Given the description of an element on the screen output the (x, y) to click on. 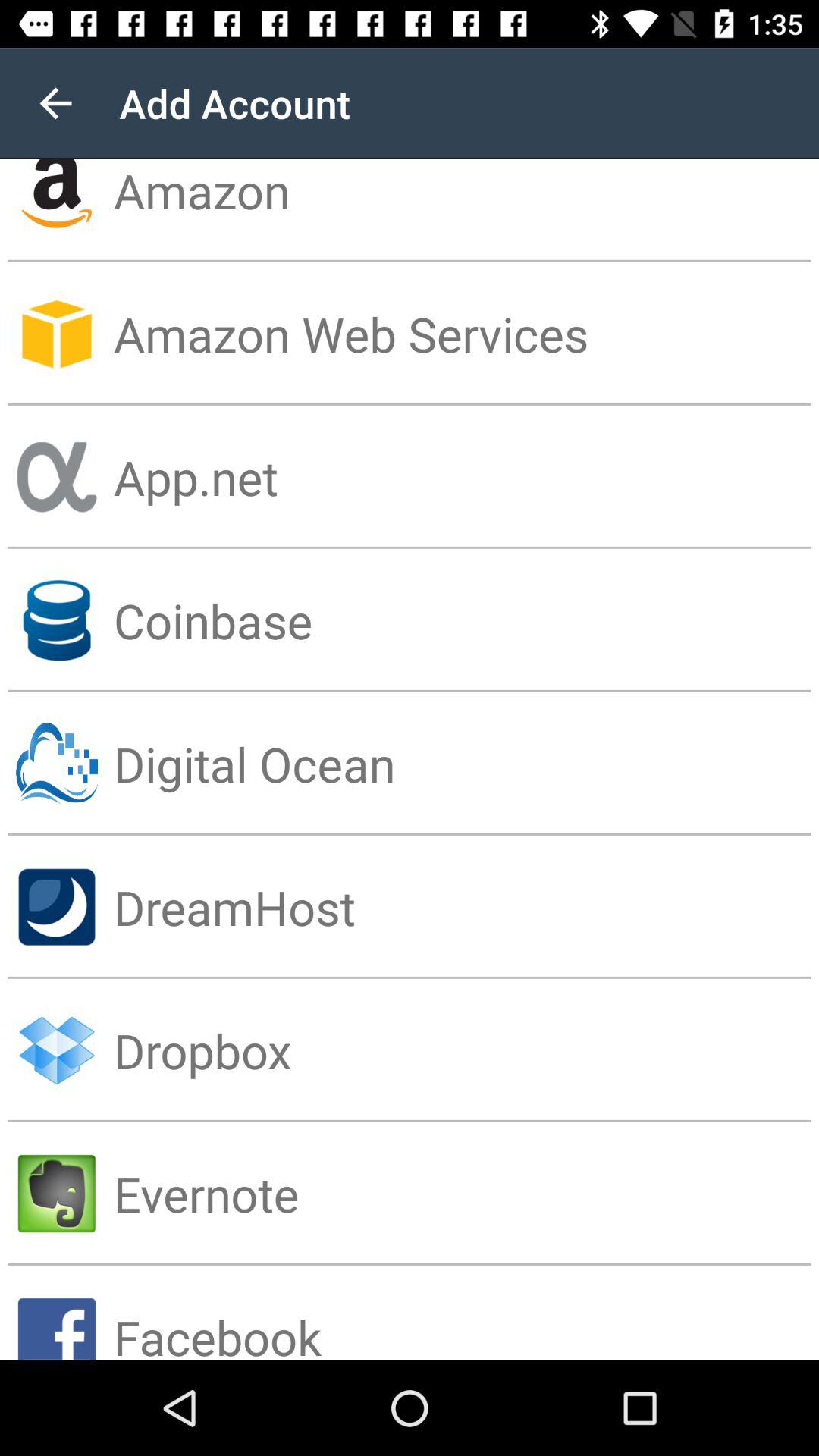
open item above the dreamhost (466, 763)
